Given the description of an element on the screen output the (x, y) to click on. 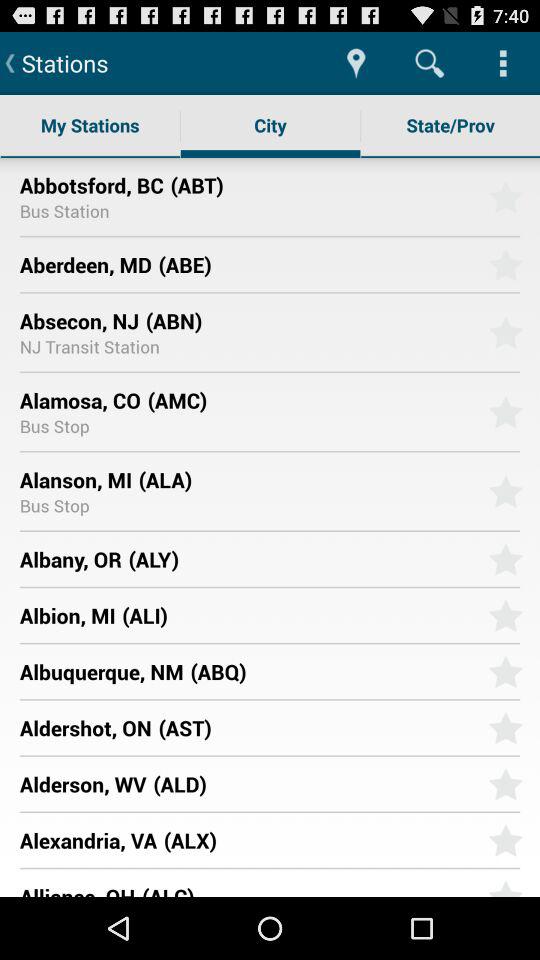
open the item to the right of albuquerque, nm item (332, 671)
